Given the description of an element on the screen output the (x, y) to click on. 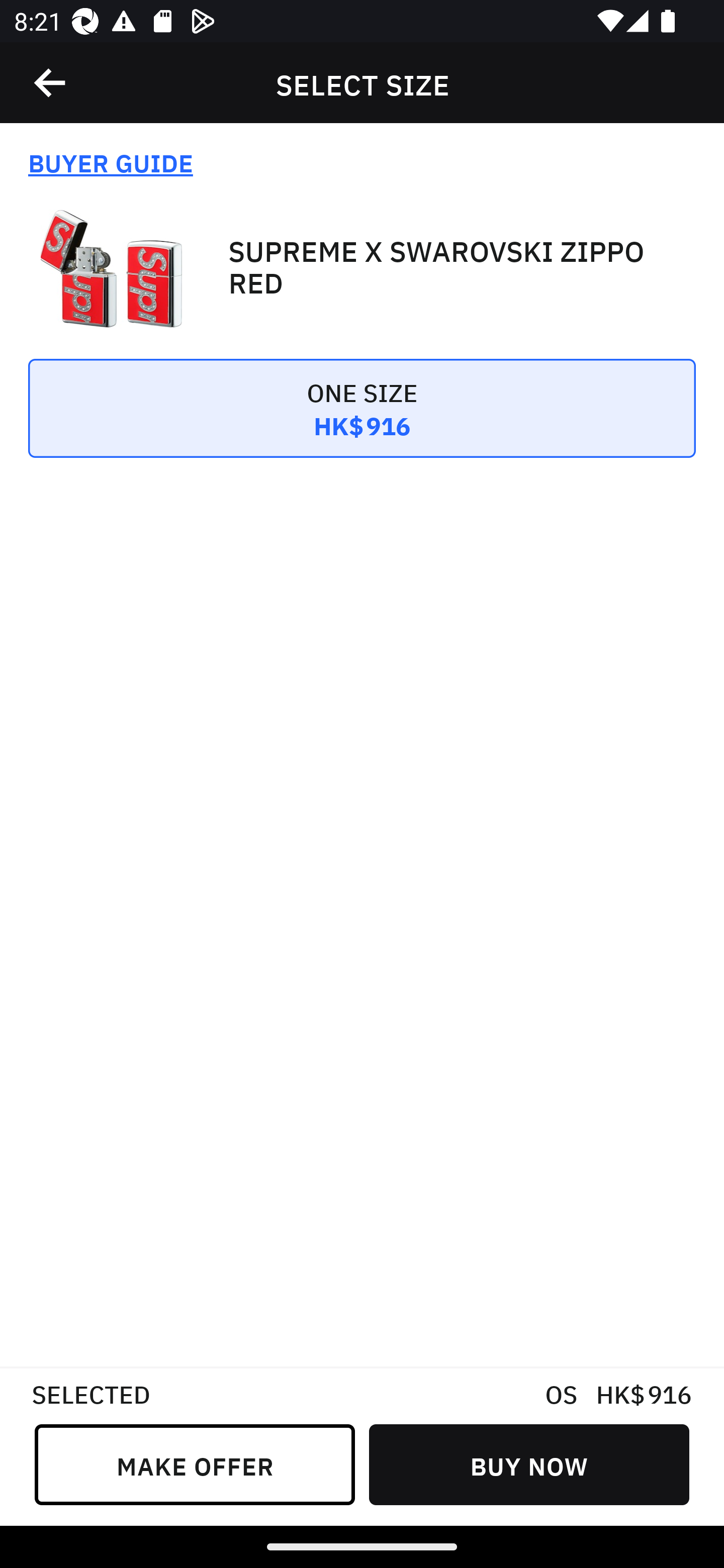
 (50, 83)
ONE SIZE HK$ 916 (361, 422)
MAKE OFFER (194, 1464)
BUY NOW (529, 1464)
